Given the description of an element on the screen output the (x, y) to click on. 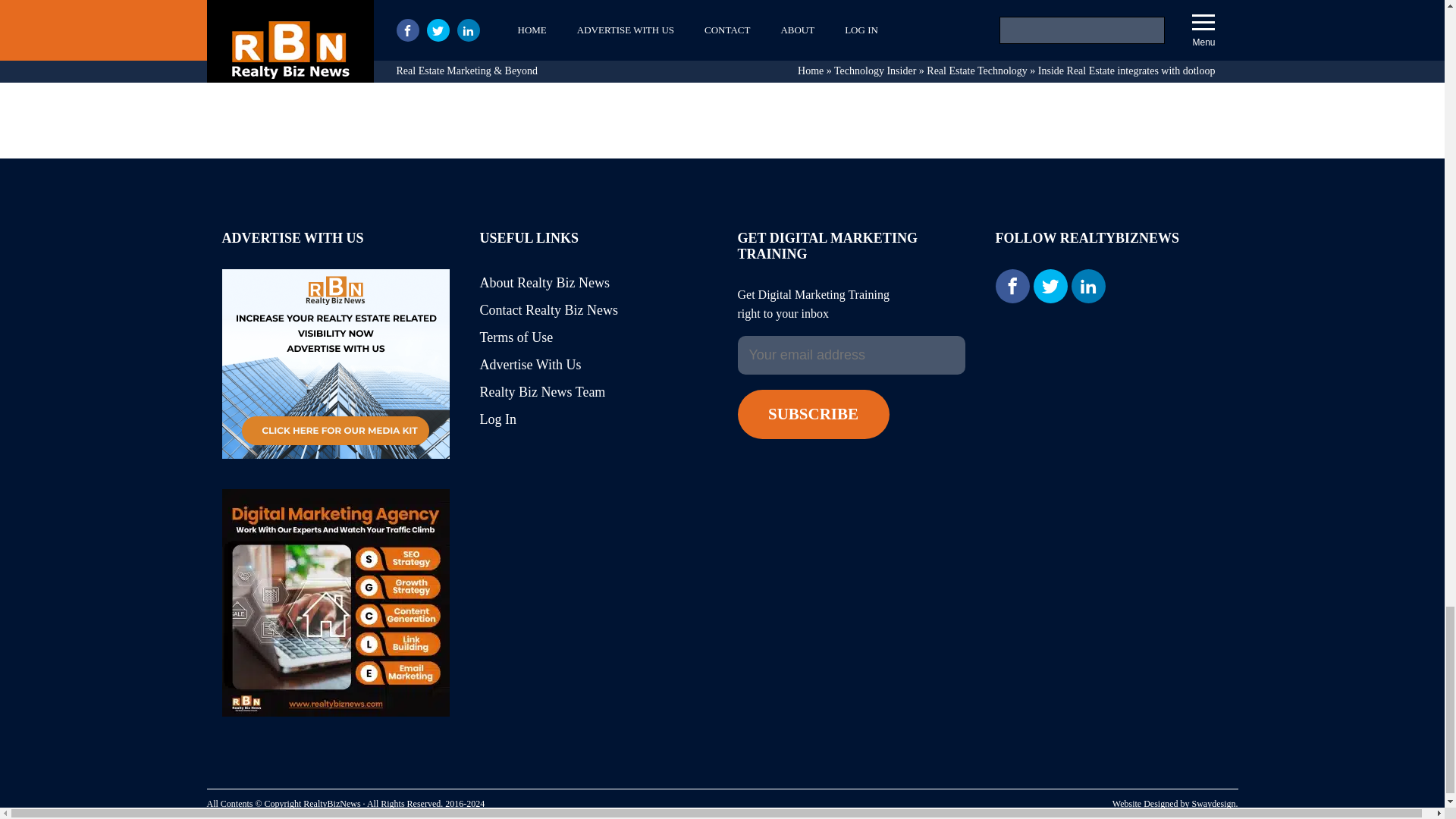
Subscribe (812, 413)
